Given the description of an element on the screen output the (x, y) to click on. 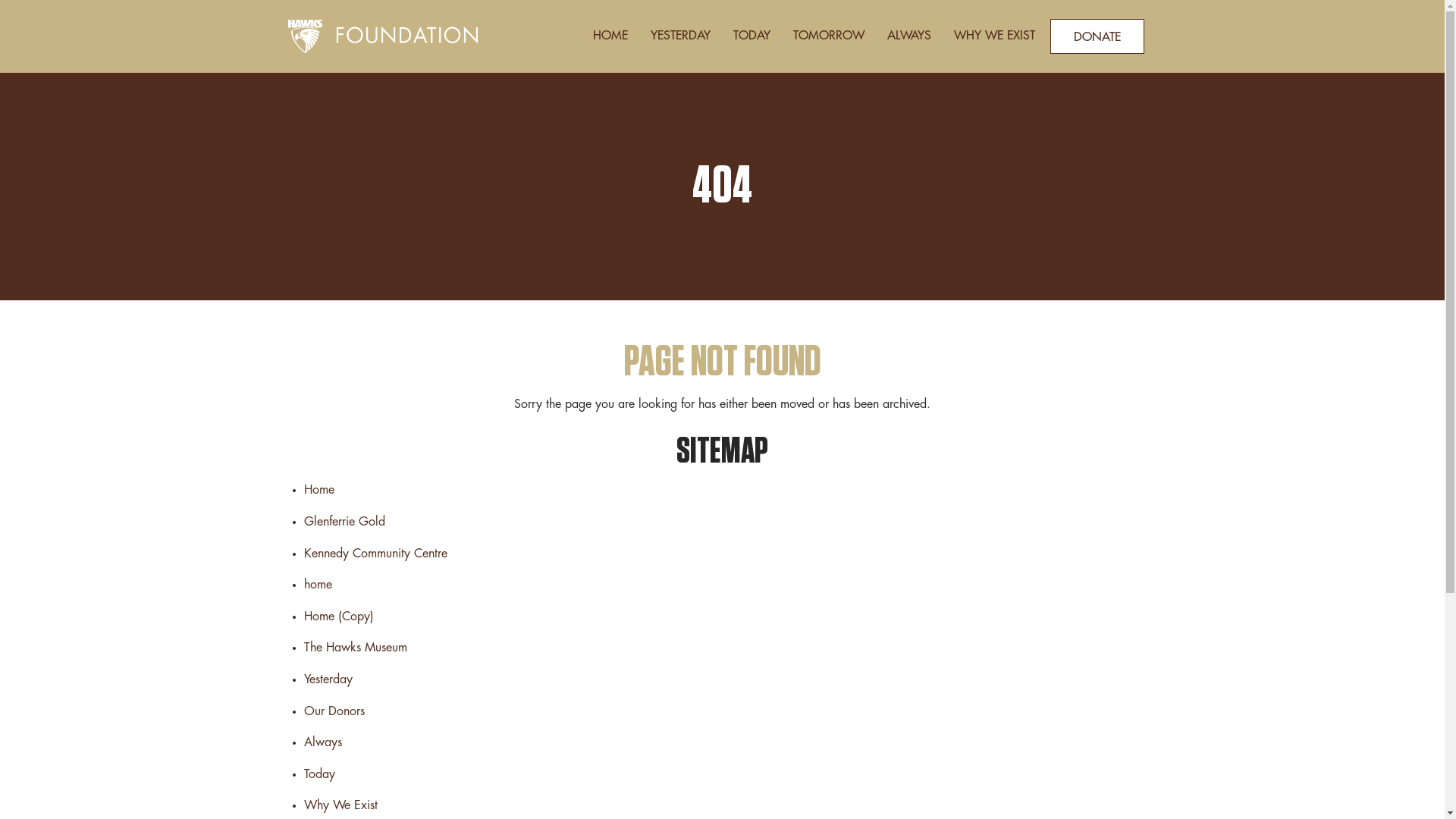
Home (Copy) Element type: text (338, 616)
home Element type: text (317, 584)
WHY WE EXIST Element type: text (993, 35)
Always Element type: text (322, 742)
HOME Element type: text (609, 35)
DONATE Element type: text (1096, 35)
ALWAYS Element type: text (908, 35)
The Hawks Museum Element type: text (354, 647)
Kennedy Community Centre Element type: text (374, 553)
TOMORROW Element type: text (828, 35)
Glenferrie Gold Element type: text (343, 521)
Yesterday Element type: text (327, 679)
TODAY Element type: text (751, 35)
Home Element type: text (318, 489)
Why We Exist Element type: text (339, 805)
YESTERDAY Element type: text (679, 35)
Today Element type: text (318, 774)
Our Donors Element type: text (333, 711)
